Given the description of an element on the screen output the (x, y) to click on. 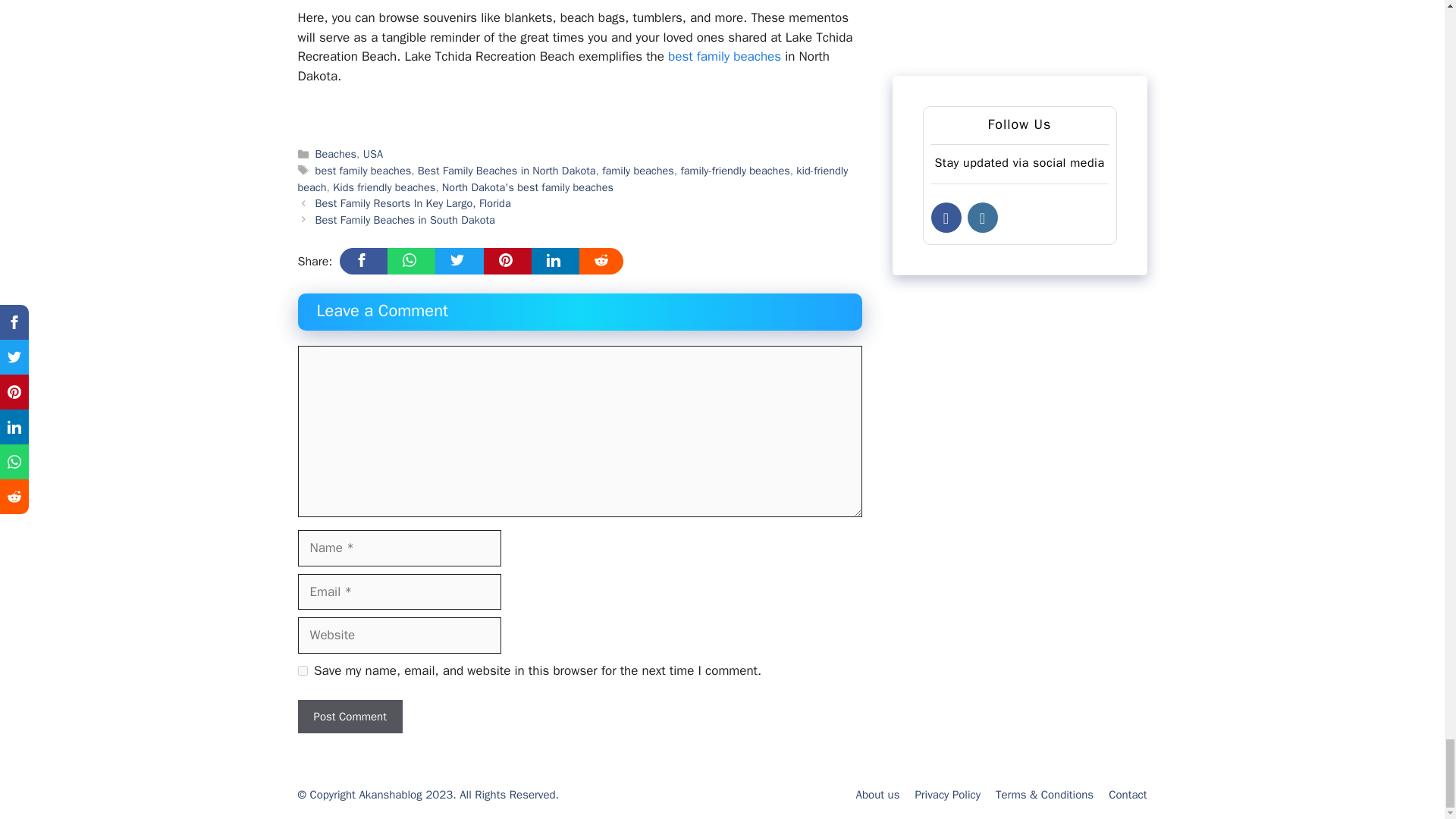
Post Comment (349, 716)
yes (302, 670)
